Given the description of an element on the screen output the (x, y) to click on. 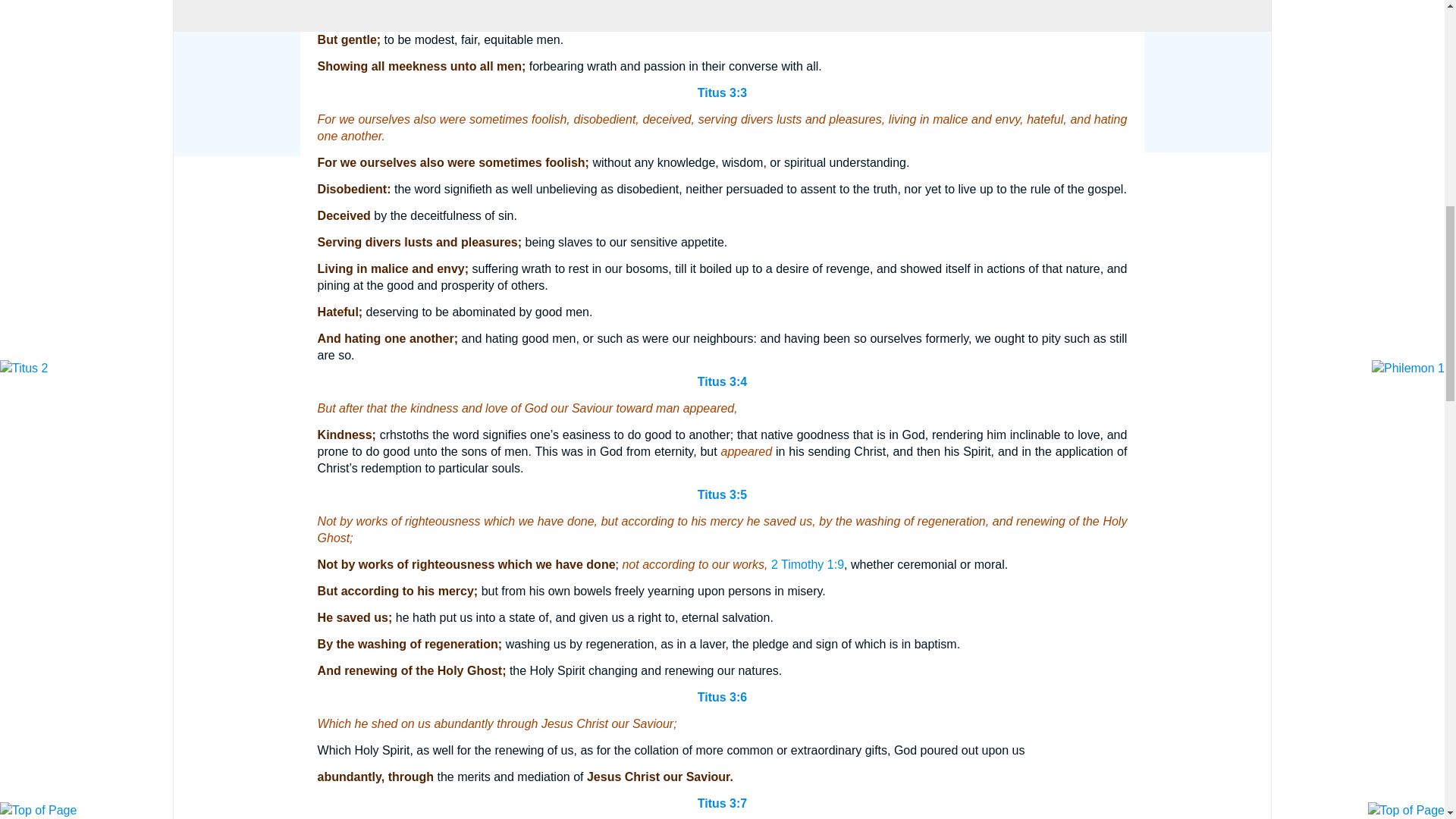
Titus 3:5 (722, 494)
Titus 3:3 (722, 92)
Titus 3:7 (722, 802)
2 Timothy 1:9 (807, 563)
Titus 3:4 (722, 381)
Titus 3:6 (722, 697)
